Given the description of an element on the screen output the (x, y) to click on. 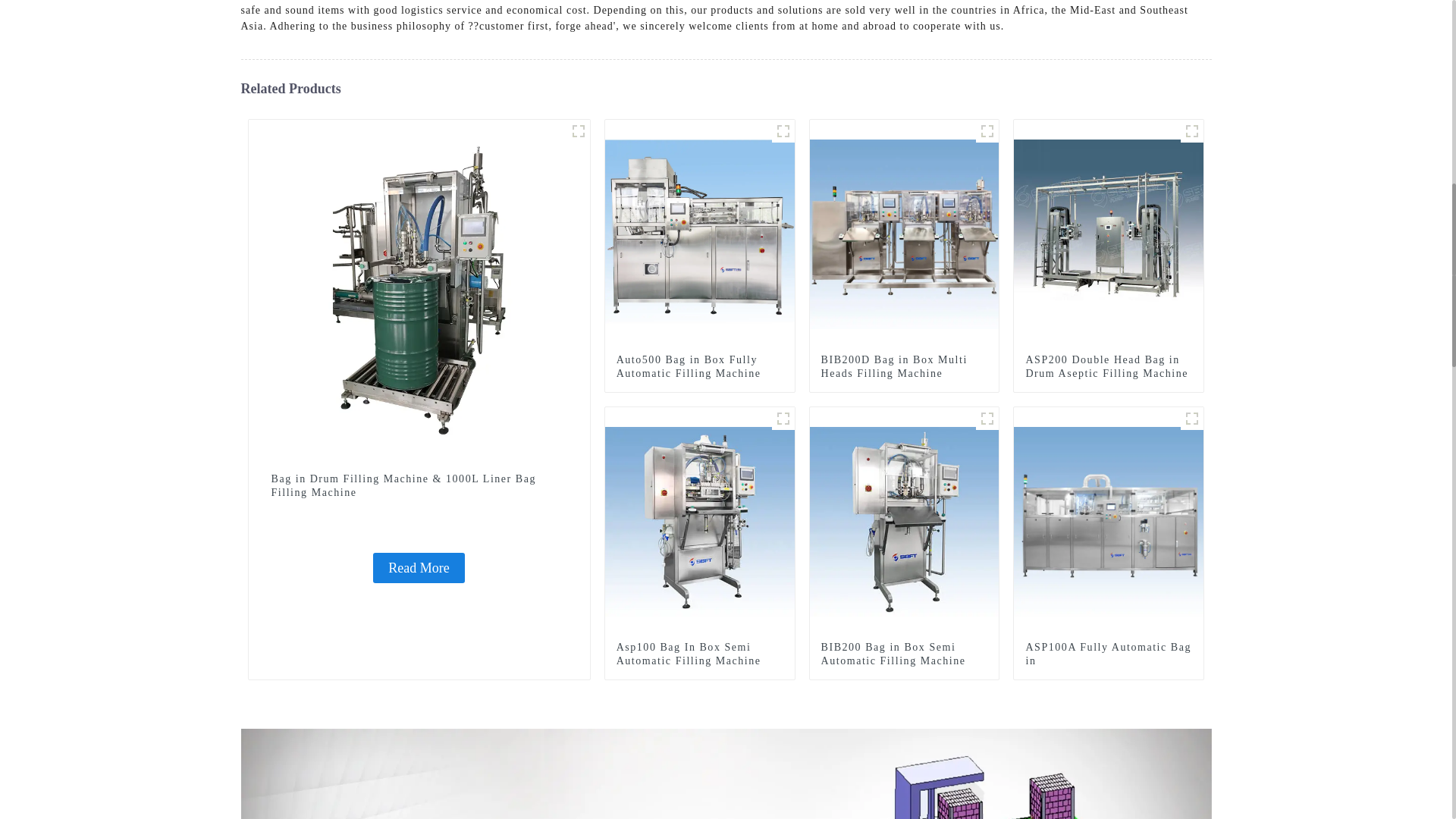
Auto500 Bag in Box Fully Automatic Filling Machine (699, 366)
Asp100 Bag In Box Semi Automatic Filling Machine (699, 520)
c90b7be7 (1192, 130)
auto500 (782, 130)
ASP100 (782, 418)
Read More (418, 567)
1 (578, 130)
BIB200D Bag in Box Multi Heads Filling Machine (904, 366)
BIB200D (986, 130)
